Given the description of an element on the screen output the (x, y) to click on. 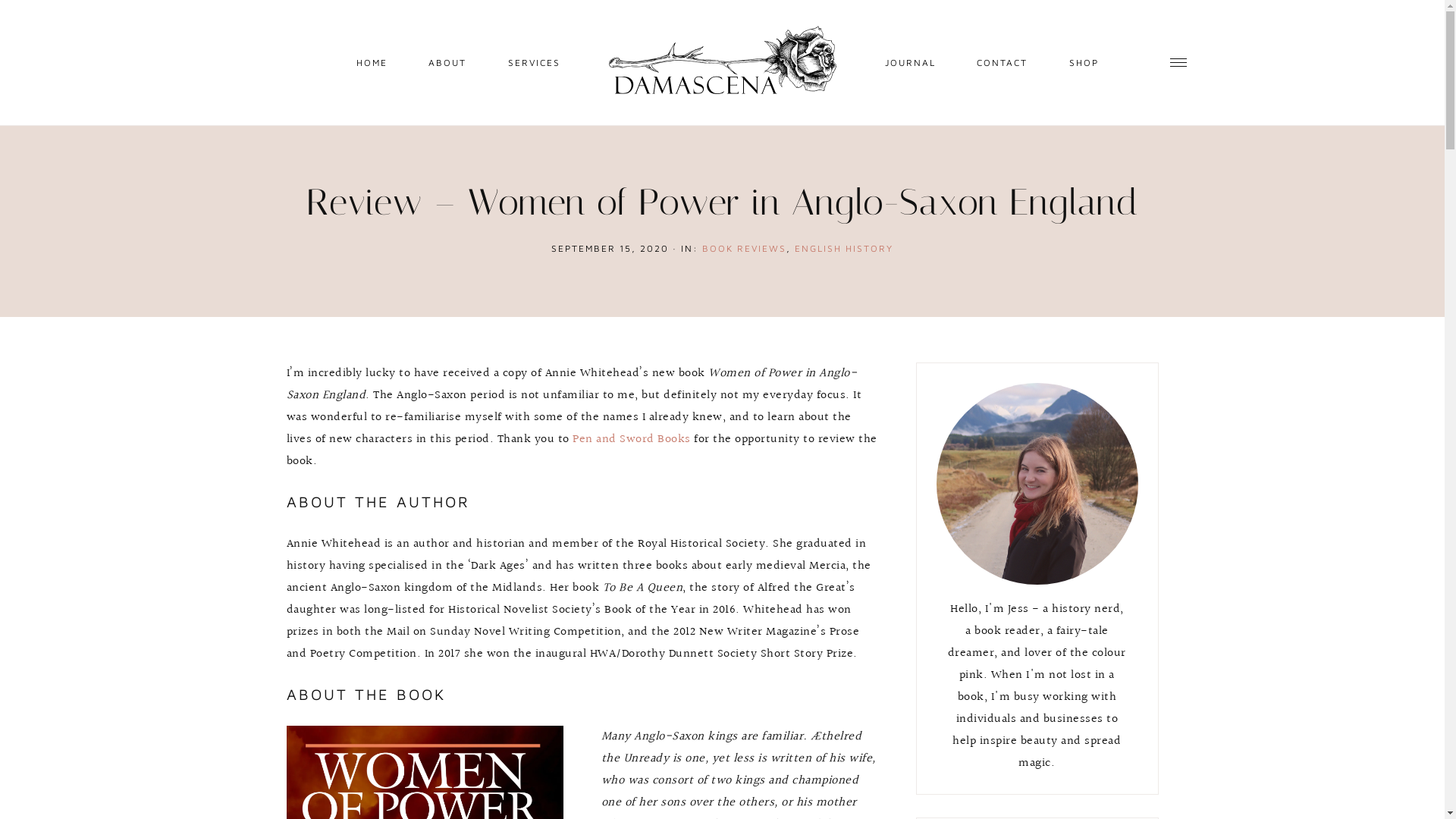
SERVICES Element type: text (533, 60)
ENGLISH HISTORY Element type: text (843, 248)
SHOP Element type: text (1083, 60)
ABOUT Element type: text (447, 60)
CONTACT Element type: text (1001, 60)
JOURNAL Element type: text (910, 60)
Pen and Sword Books Element type: text (631, 438)
DAMASCENA Element type: text (721, 62)
HOME Element type: text (370, 60)
BOOK REVIEWS Element type: text (744, 248)
